Given the description of an element on the screen output the (x, y) to click on. 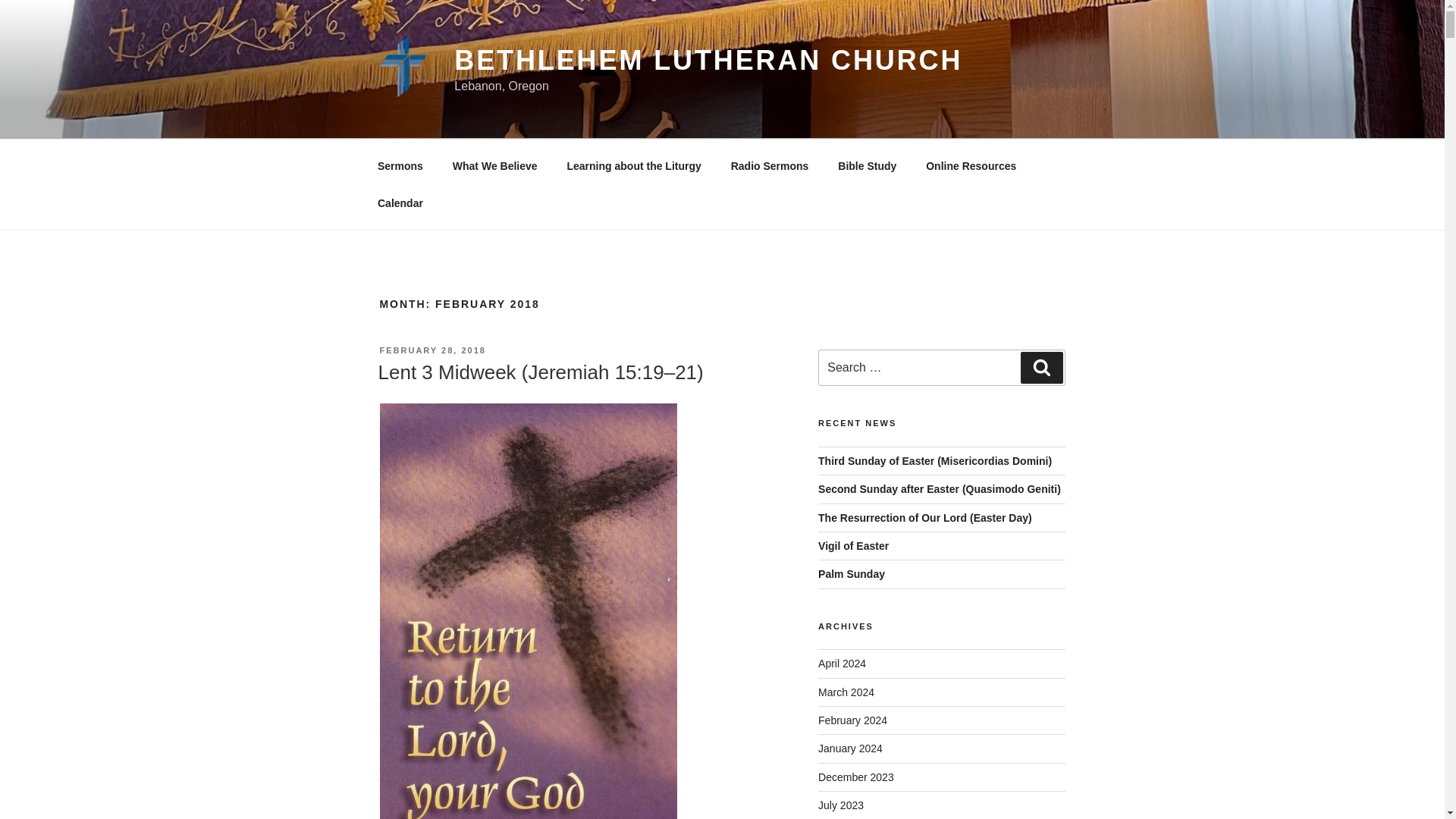
BETHLEHEM LUTHERAN CHURCH (708, 60)
Online Resources (970, 165)
Bible Study (867, 165)
Radio Sermons (769, 165)
FEBRUARY 28, 2018 (431, 349)
Calendar (399, 203)
What We Believe (494, 165)
Learning about the Liturgy (633, 165)
Sermons (399, 165)
